Given the description of an element on the screen output the (x, y) to click on. 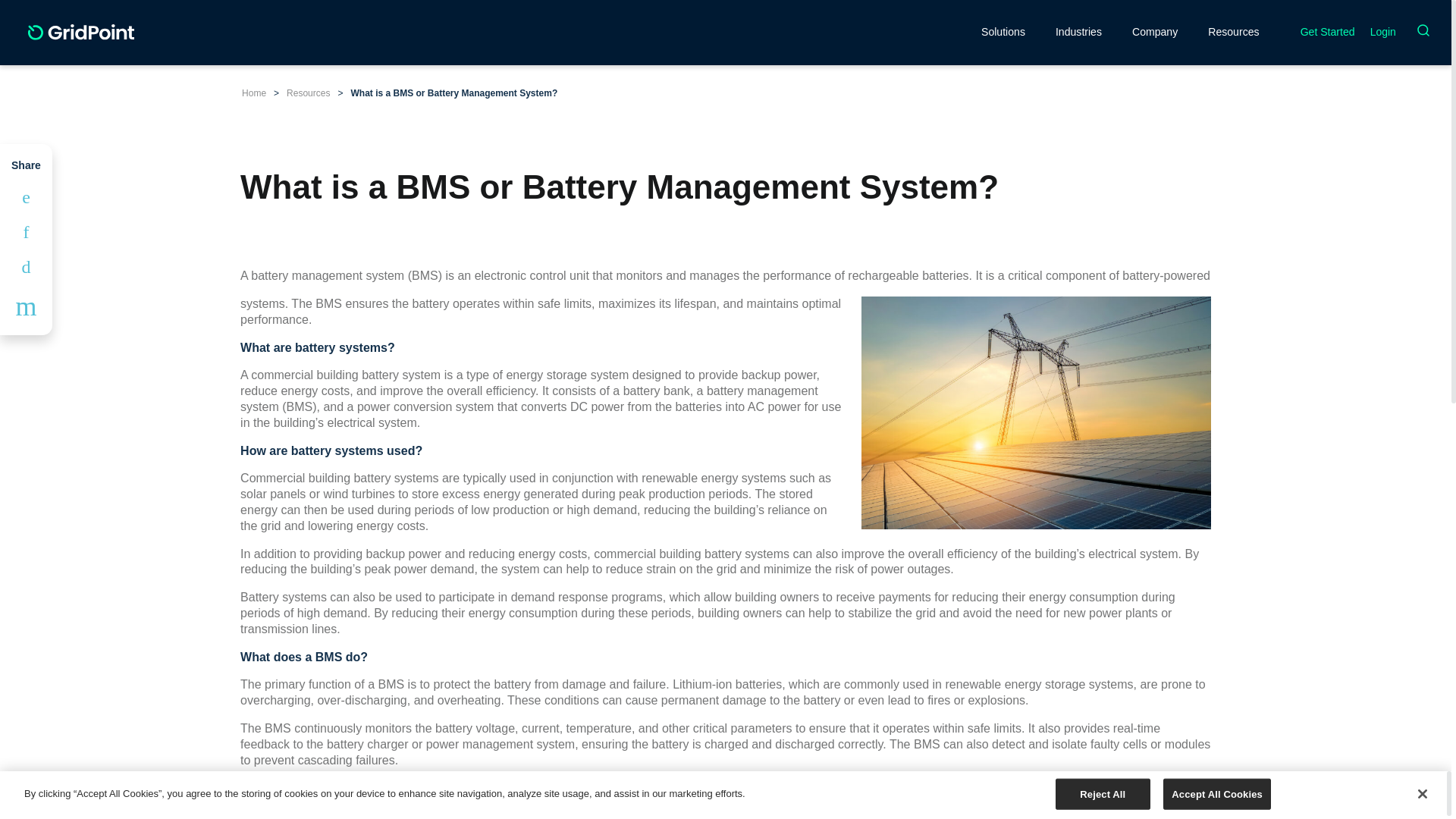
Home (253, 92)
Login (1383, 32)
Resources (1233, 31)
Company (1154, 31)
Get Started (1327, 31)
Resources (308, 92)
Industries (1078, 31)
Solutions (1003, 31)
